Given the description of an element on the screen output the (x, y) to click on. 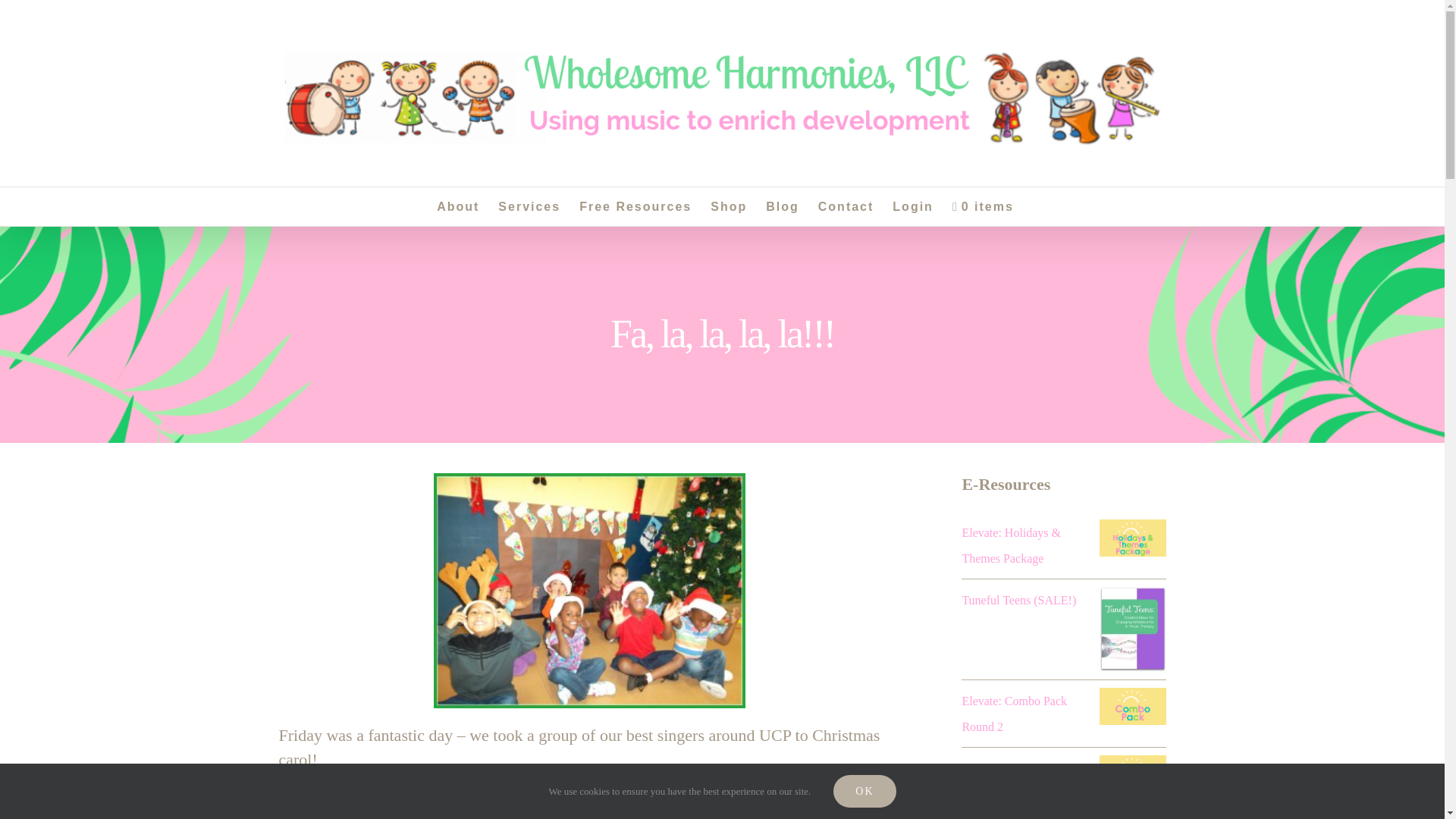
About (457, 206)
Login (912, 206)
Shop (728, 206)
0 items (982, 206)
Free Resources (635, 206)
Services (528, 206)
carolers (589, 590)
Start shopping (982, 206)
Contact (846, 206)
